Given the description of an element on the screen output the (x, y) to click on. 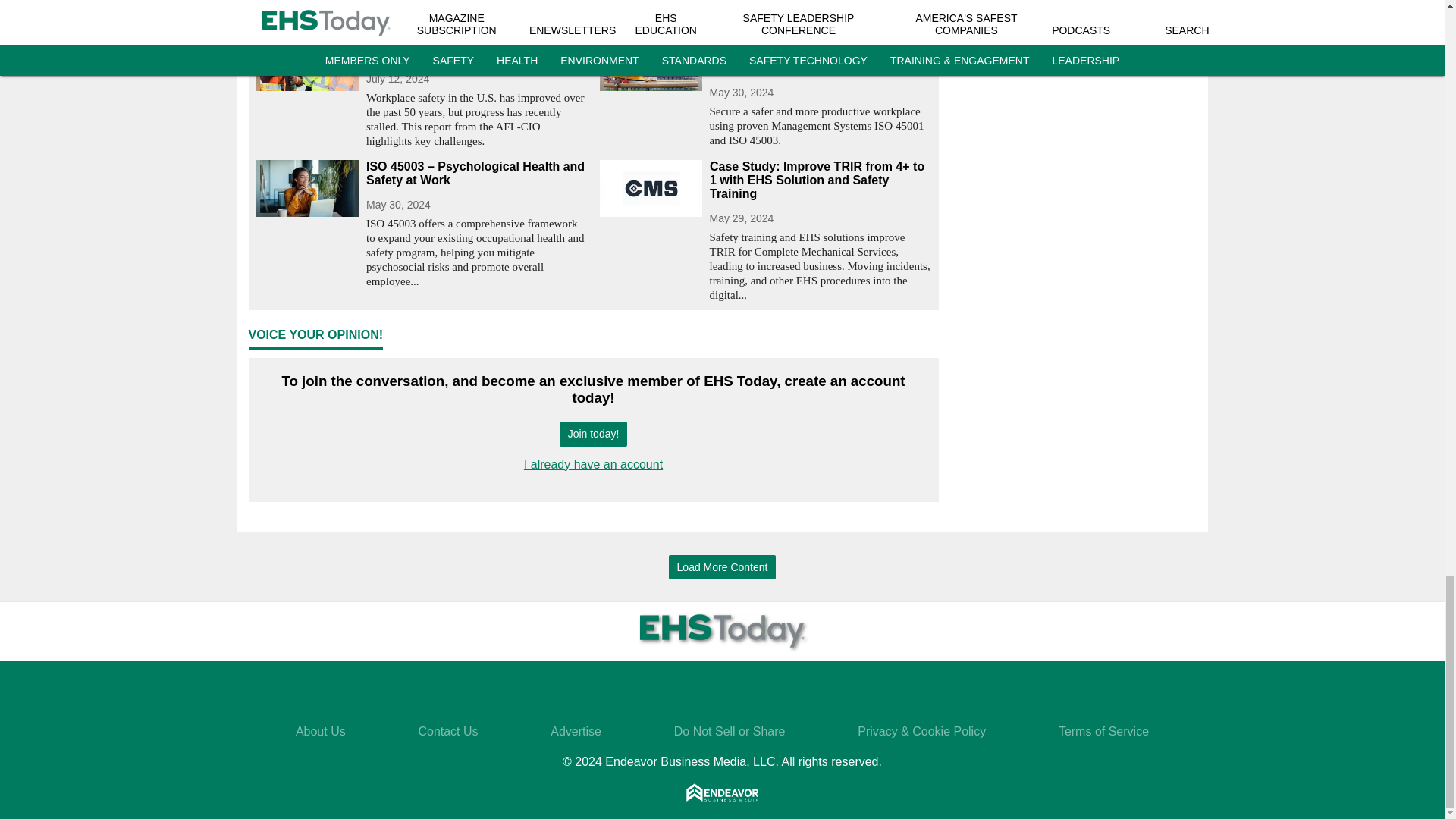
Join today! (593, 433)
I already have an account (593, 463)
10 Facts About the State of Workplace Safety in the U.S. (476, 47)
